Given the description of an element on the screen output the (x, y) to click on. 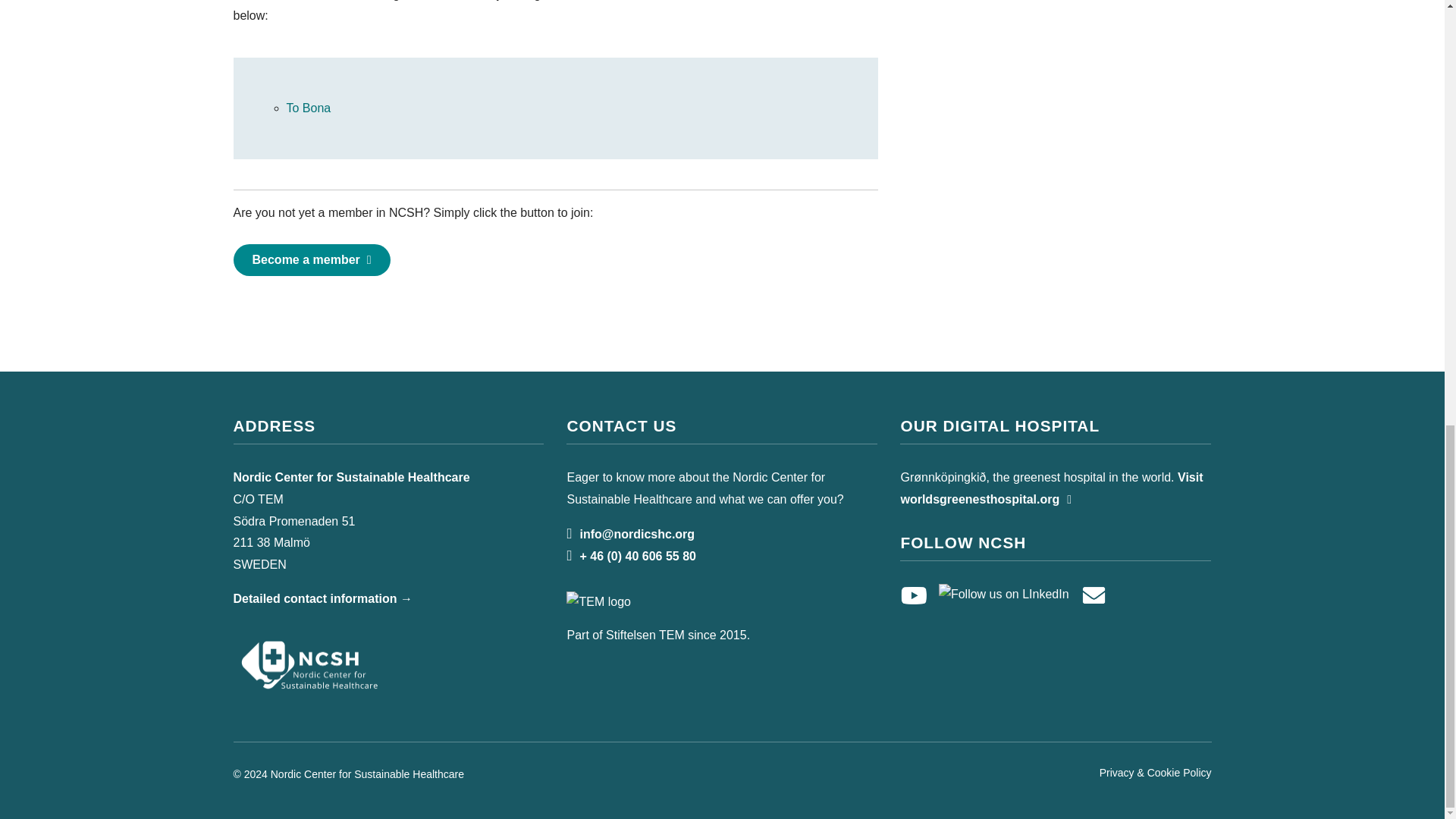
Visit worldsgreenesthospital.org (1050, 488)
Become a member (311, 260)
Visit TEM:s website (634, 600)
To Bona (308, 107)
Nordic Center for Sustainable Healthcare (308, 663)
Detailed contact information (322, 598)
